Given the description of an element on the screen output the (x, y) to click on. 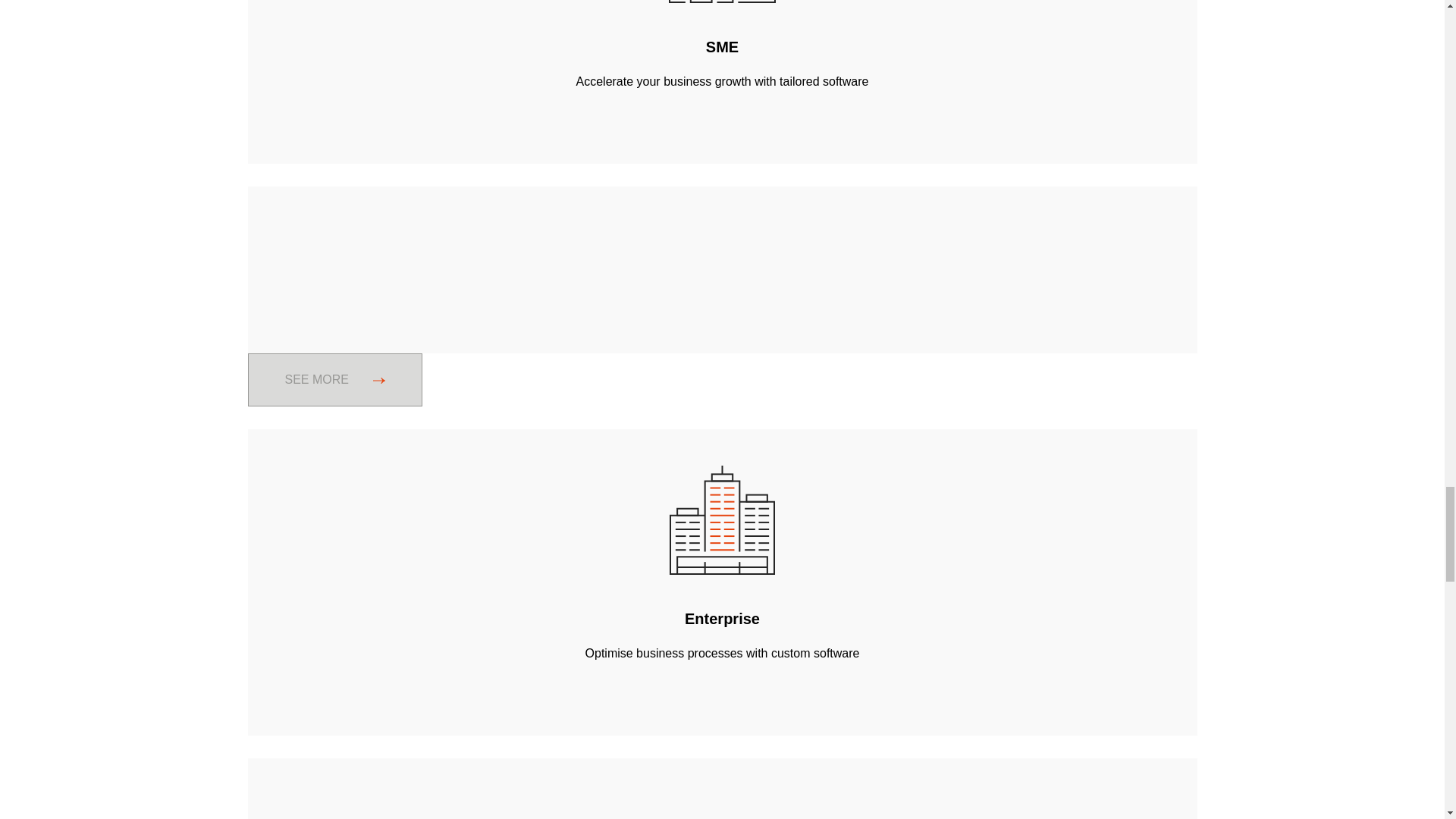
SEE MORE (721, 379)
SEE MORE (334, 379)
